Given the description of an element on the screen output the (x, y) to click on. 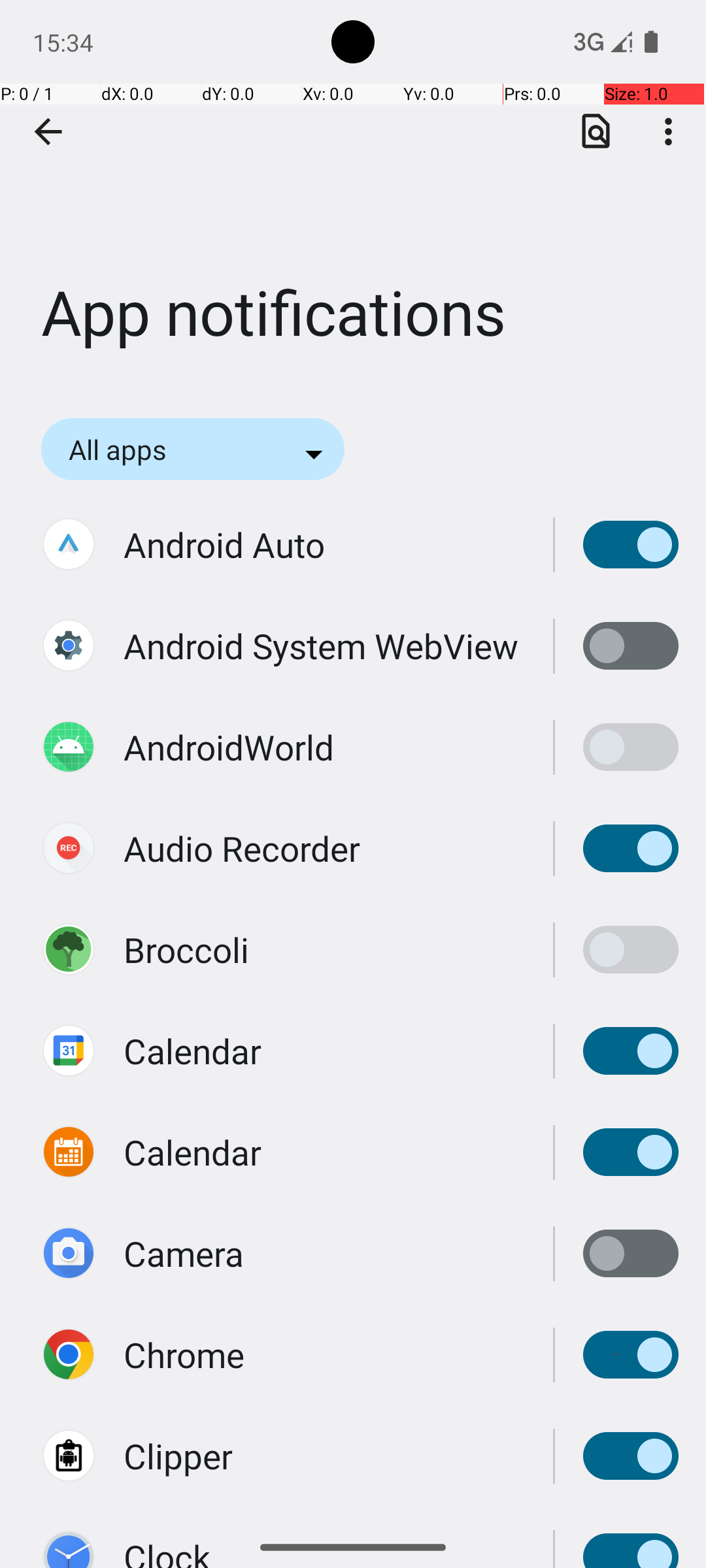
All apps Element type: android.widget.TextView (134, 448)
